Given the description of an element on the screen output the (x, y) to click on. 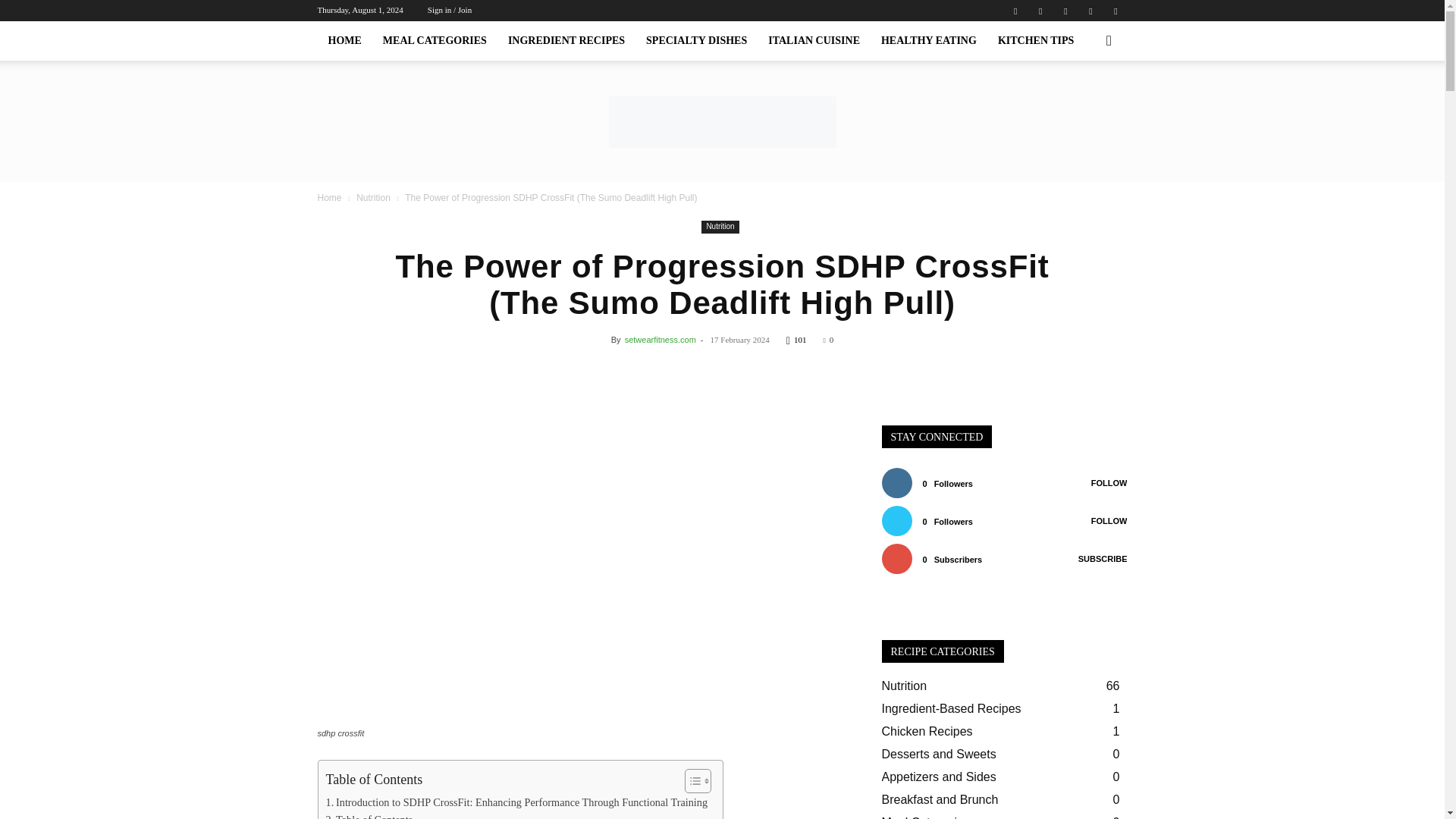
Facebook (1040, 10)
MEAL CATEGORIES (434, 40)
HOME (344, 40)
VKontakte (1090, 10)
INGREDIENT RECIPES (565, 40)
Twitter (1065, 10)
Evernote (1015, 10)
Youtube (1114, 10)
